Given the description of an element on the screen output the (x, y) to click on. 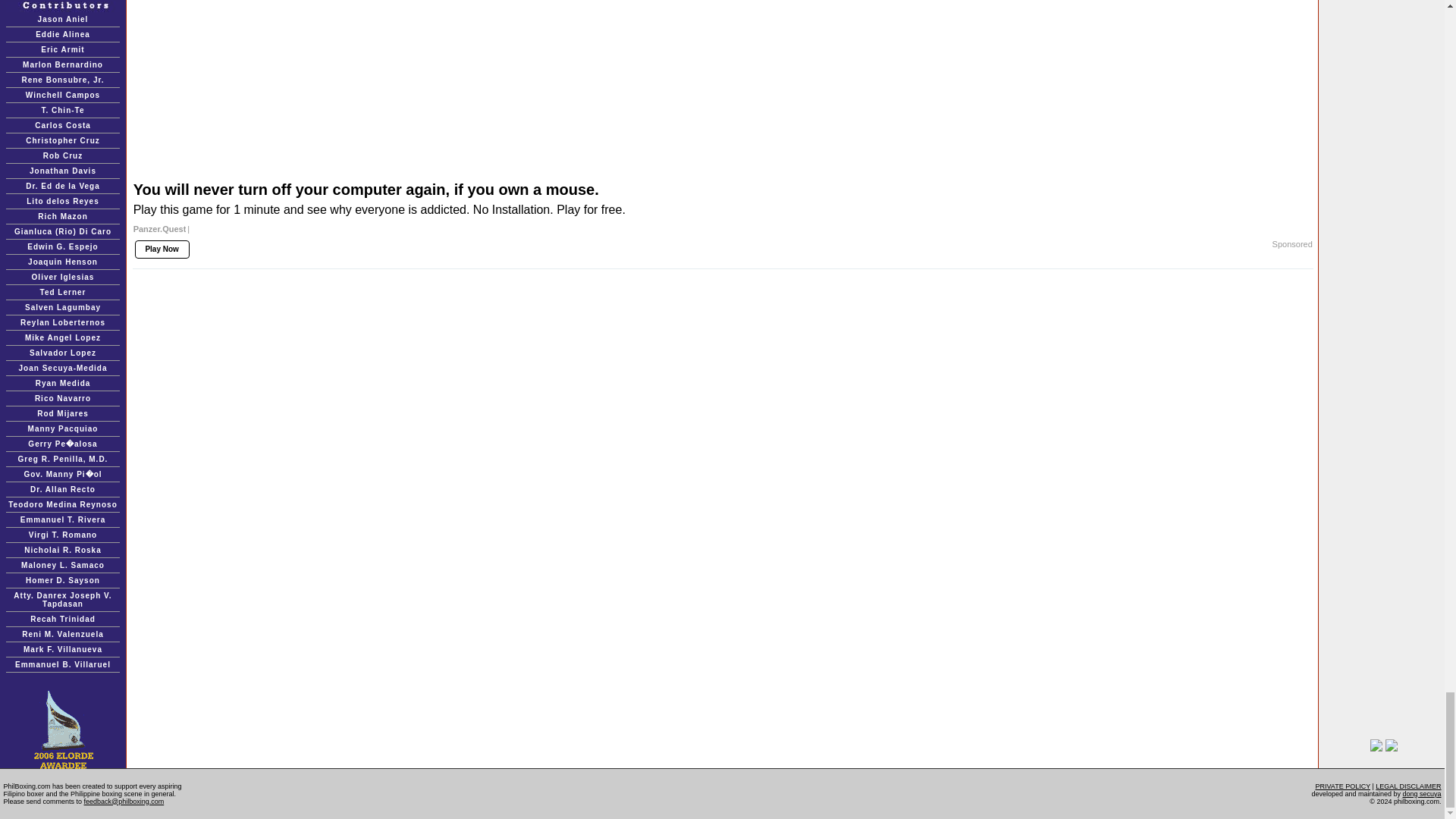
Jonathan Davis (62, 171)
Rich Mazon (62, 216)
Rene Bonsubre, Jr. (62, 80)
Salven Lagumbay (62, 307)
Marlon Bernardino (63, 64)
Jason Aniel (62, 19)
Edwin G. Espejo (62, 246)
Ryan Medida (62, 383)
Rob Cruz (62, 155)
Joaquin Henson (62, 261)
